Given the description of an element on the screen output the (x, y) to click on. 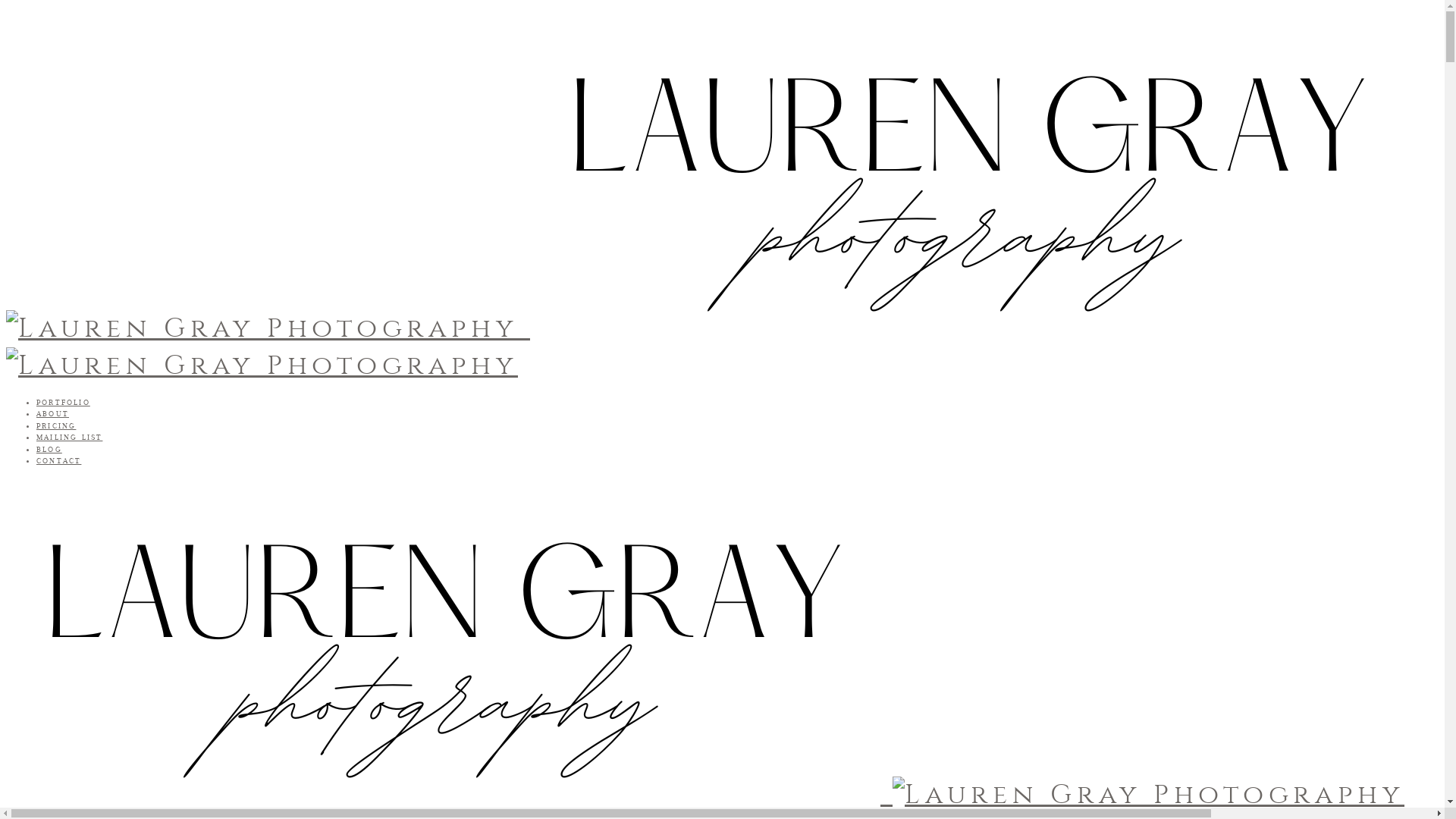
MAILING LIST Element type: text (69, 437)
ABOUT Element type: text (52, 413)
BLOG Element type: text (49, 449)
PORTFOLIO Element type: text (63, 402)
PRICING Element type: text (55, 425)
CONTACT Element type: text (58, 460)
